Given the description of an element on the screen output the (x, y) to click on. 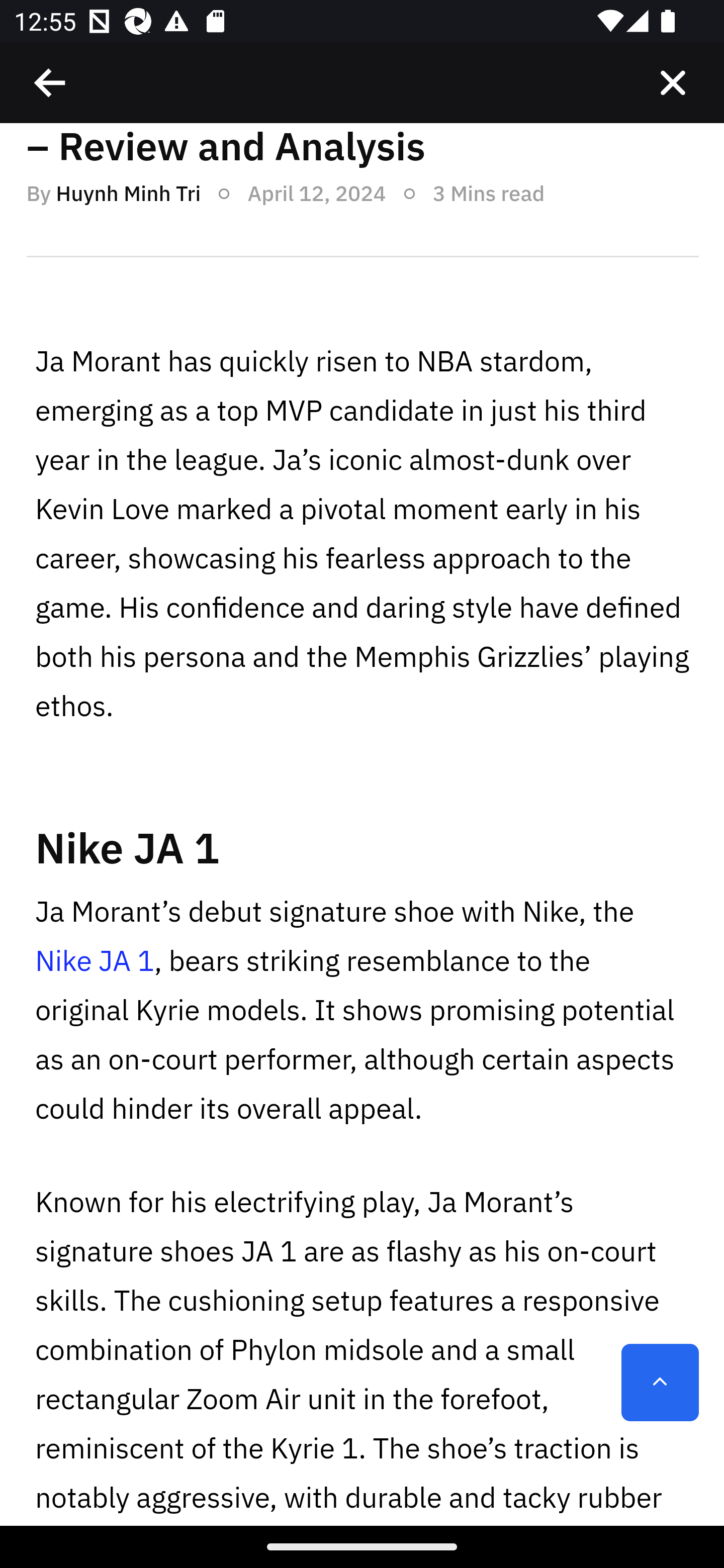
 (50, 83)
 (672, 83)
Huynh Minh Tri (127, 191)
Nike JA 1 (127, 848)
Nike JA 1 (95, 961)
Scroll to top  (659, 1381)
